Given the description of an element on the screen output the (x, y) to click on. 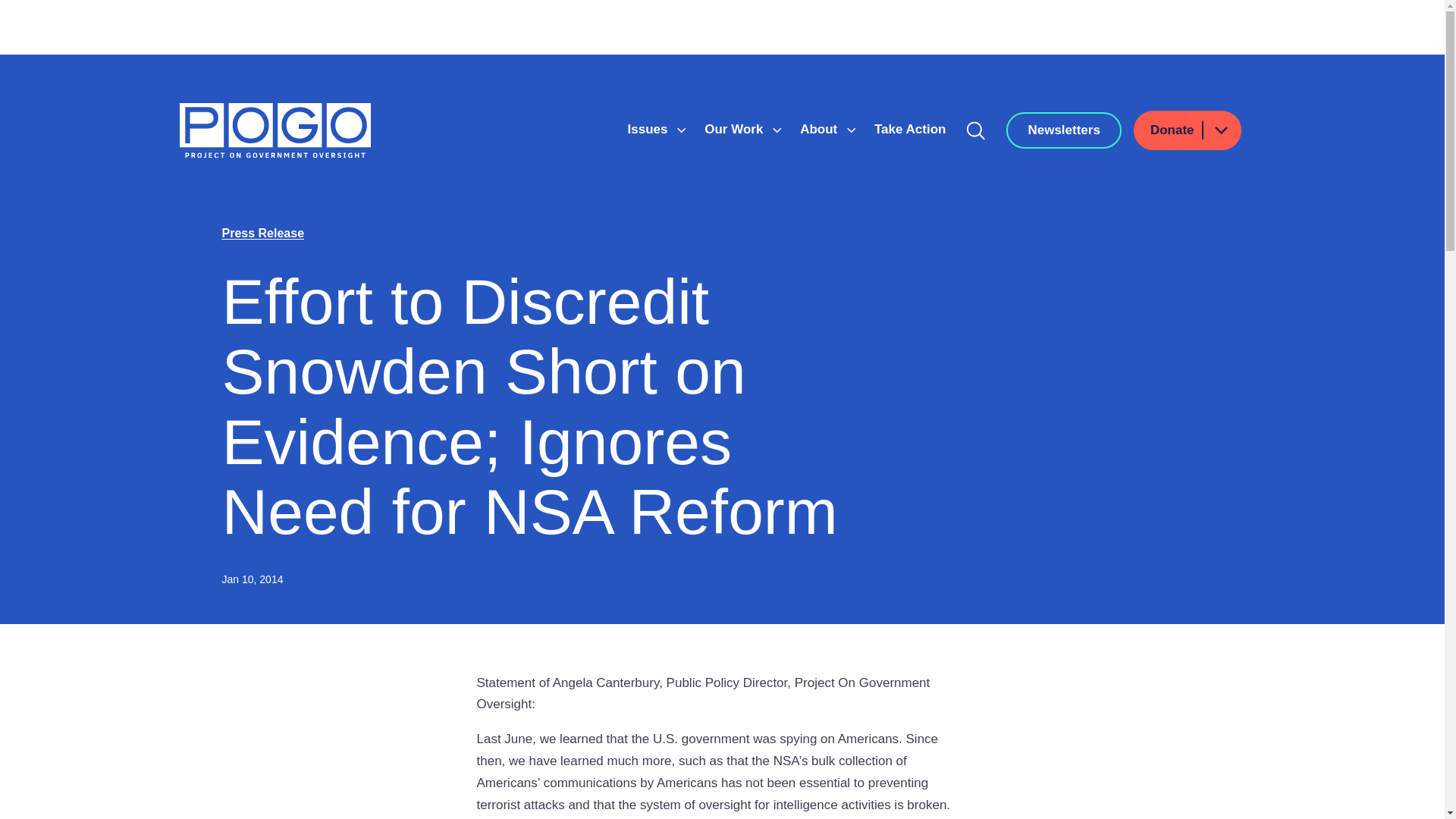
Search (976, 130)
Take Action (909, 129)
Show submenu for Issues (681, 130)
Newsletters (1063, 130)
Show submenu for About (851, 130)
About (820, 129)
Show submenu for Donate (1220, 129)
Home (274, 130)
Our Work (735, 129)
Show submenu for Our Work (777, 130)
